Given the description of an element on the screen output the (x, y) to click on. 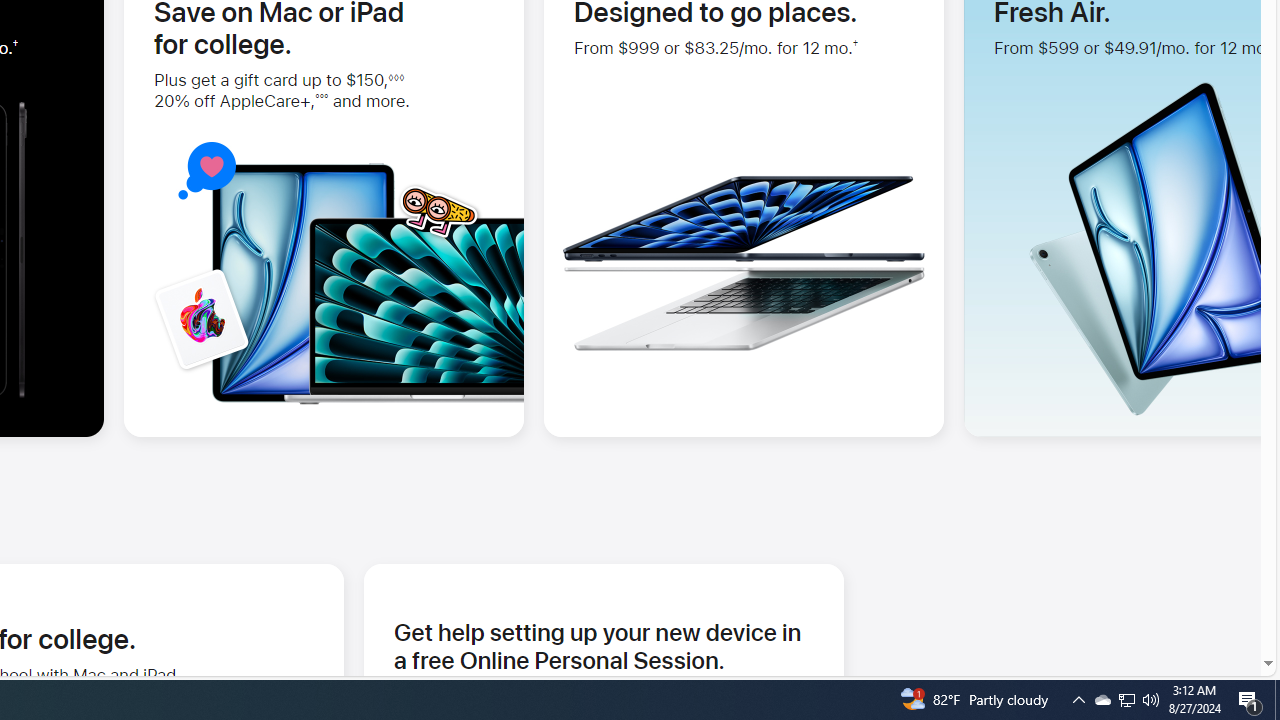
Next - The latest. (1214, 185)
